Given the description of an element on the screen output the (x, y) to click on. 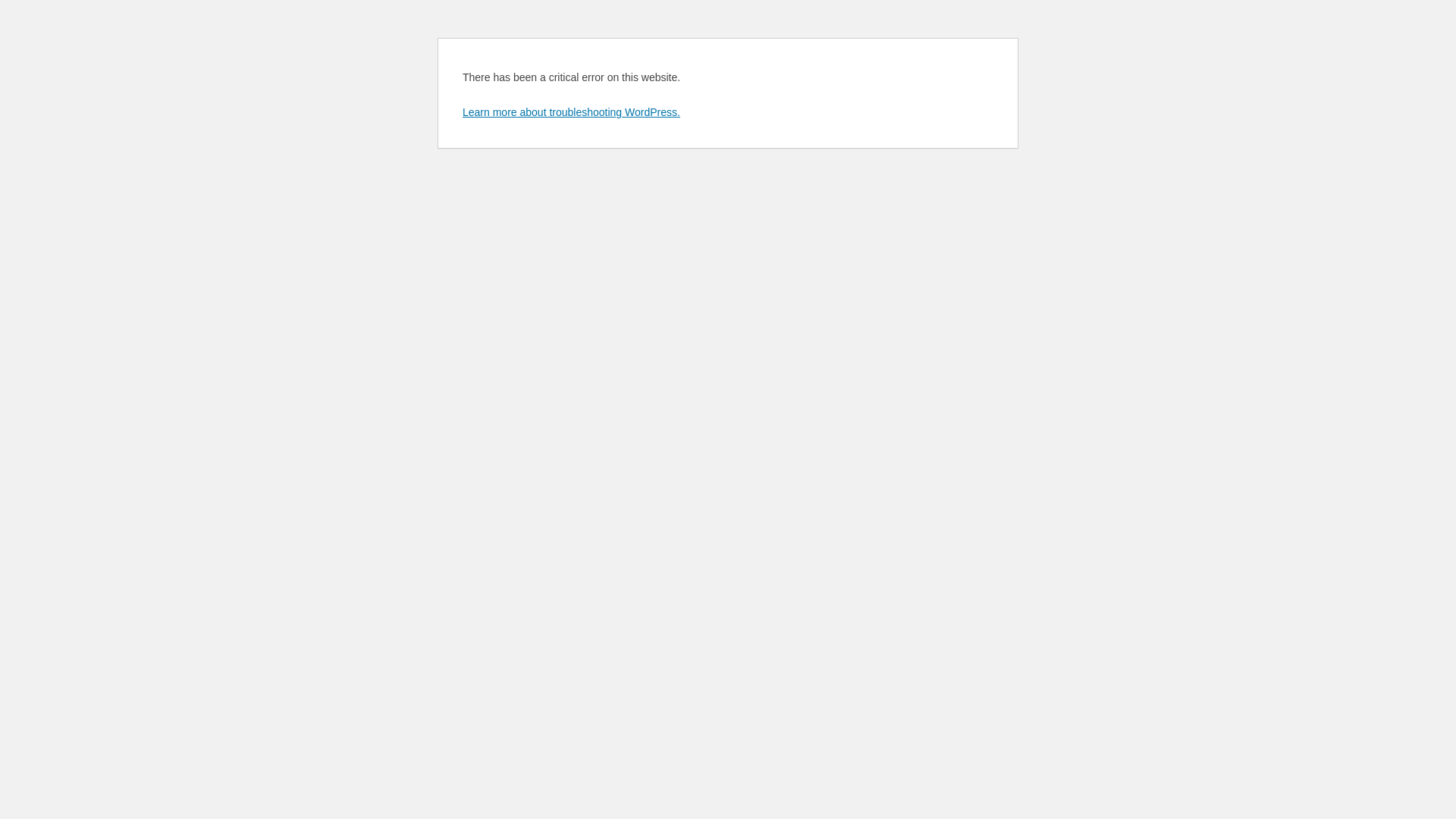
Learn more about troubleshooting WordPress. Element type: text (571, 112)
